Given the description of an element on the screen output the (x, y) to click on. 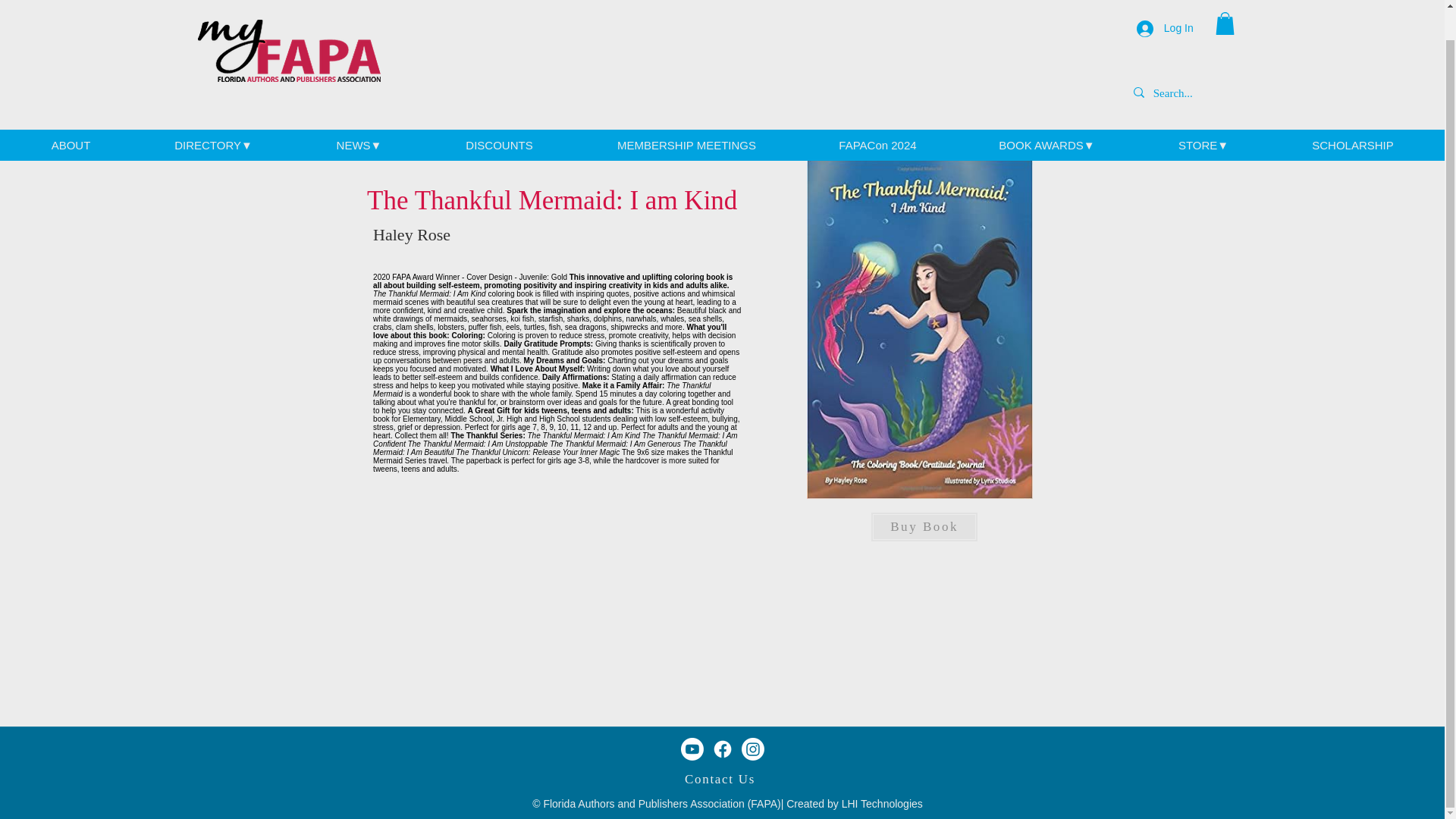
Buy Book (924, 526)
MEMBERSHIP MEETINGS (686, 114)
SCHOLARSHIP (1352, 114)
ABOUT (70, 114)
DISCOUNTS (499, 114)
Buy Book (924, 417)
FAPACon 2024 (876, 114)
Log In (1164, 5)
